Given the description of an element on the screen output the (x, y) to click on. 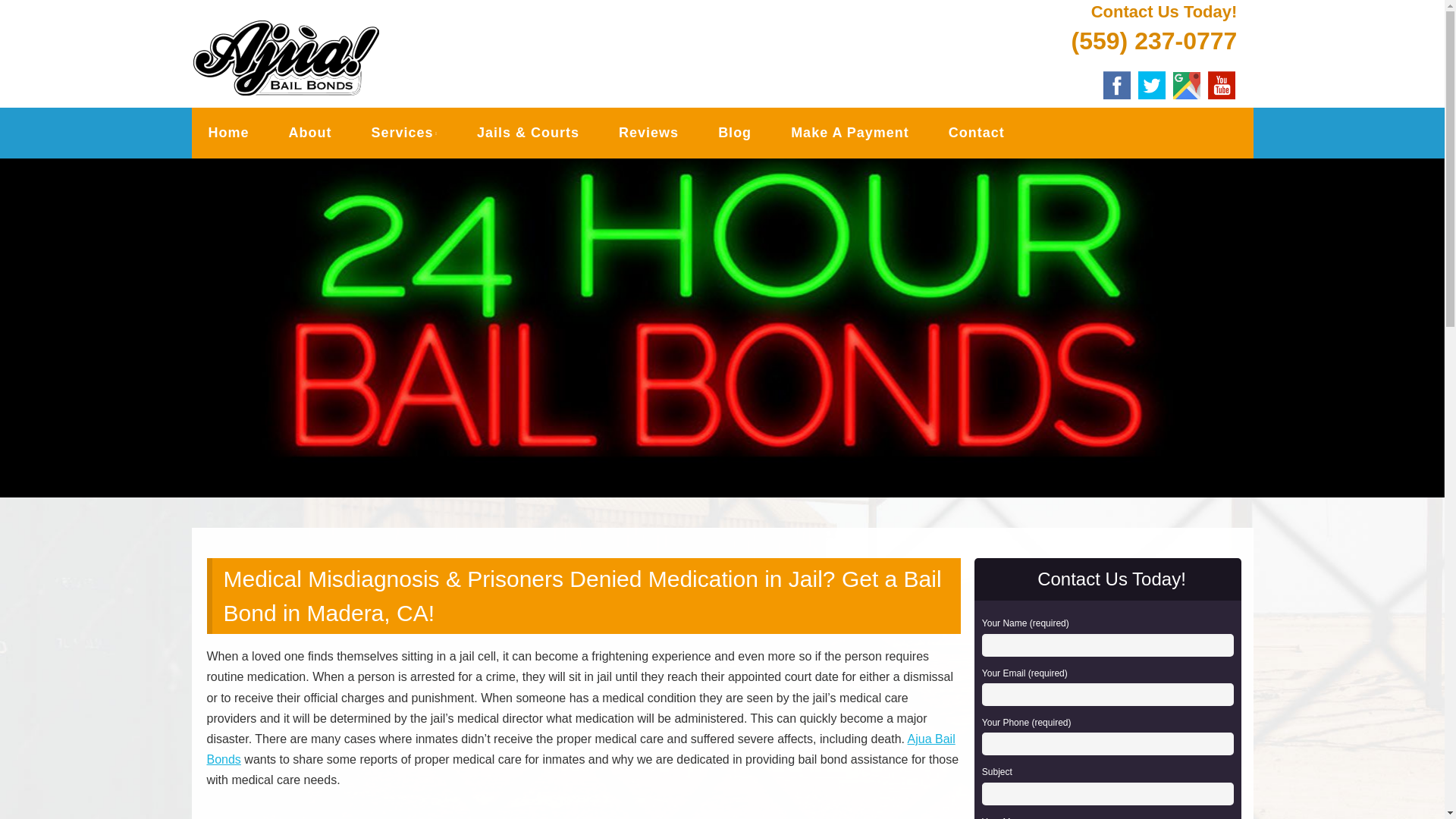
Ajua Bail Bonds (580, 748)
Reviews (648, 132)
About (310, 132)
Make A Payment (850, 132)
Contact (975, 132)
Home (228, 132)
Ajua Bail Bonds (341, 35)
Blog (734, 132)
Services (404, 132)
AJUA BAIL BONDS (341, 35)
